Given the description of an element on the screen output the (x, y) to click on. 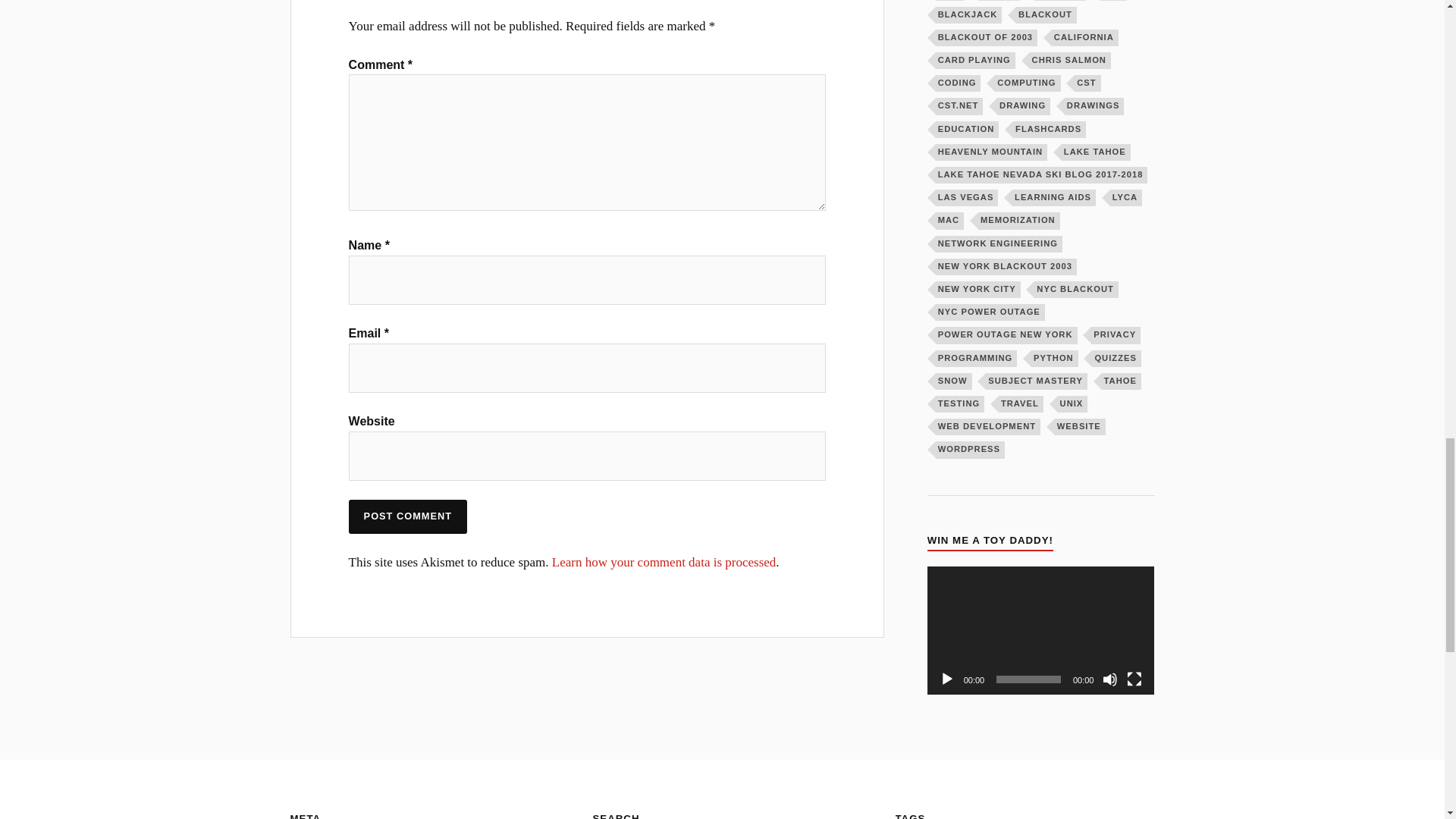
Fullscreen (1133, 679)
Play (947, 679)
Post Comment (408, 516)
Learn how your comment data is processed (663, 562)
Mute (1110, 679)
Post Comment (408, 516)
